Given the description of an element on the screen output the (x, y) to click on. 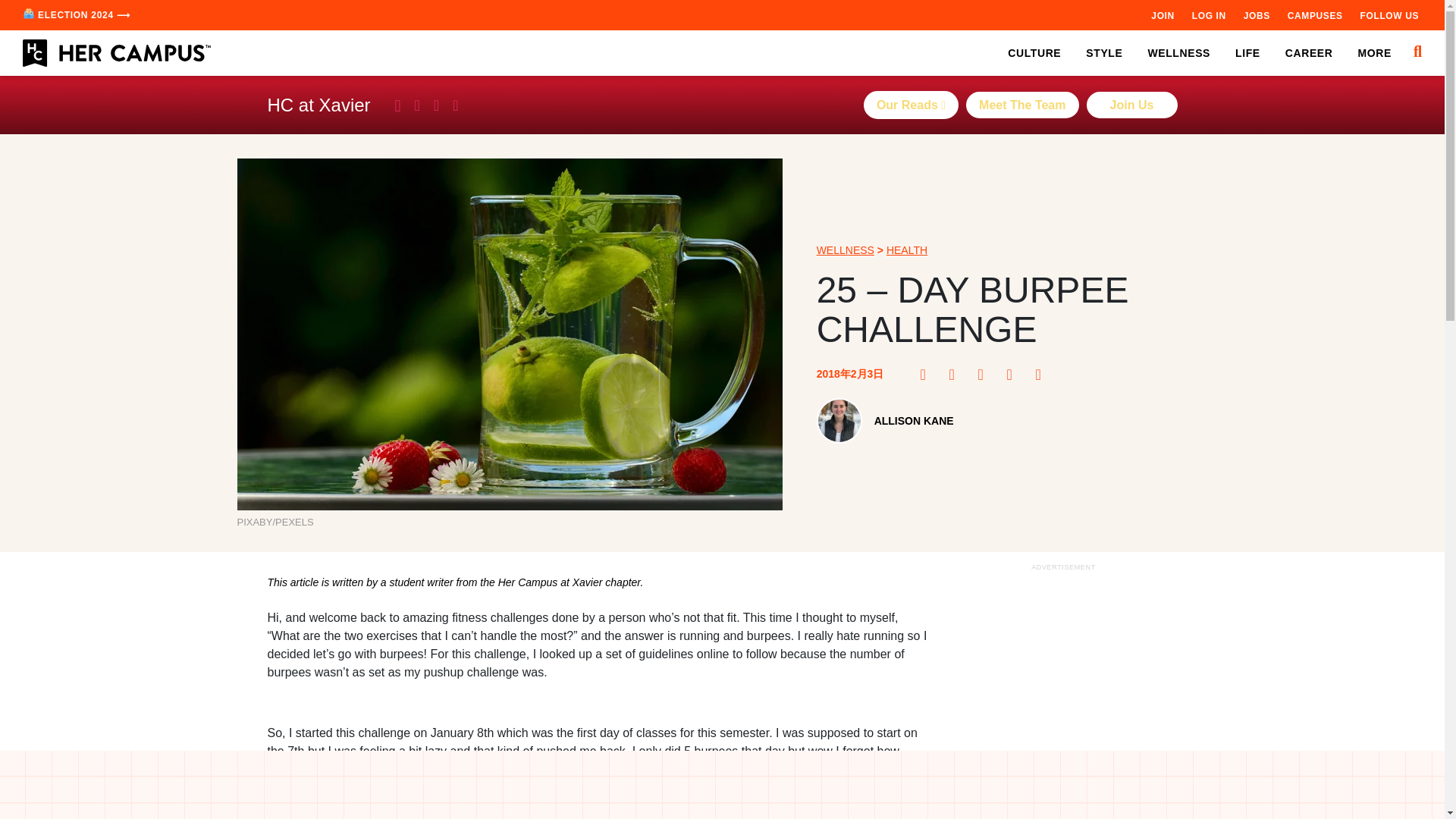
JOBS (1256, 15)
JOIN (1162, 15)
CAMPUSES (1314, 15)
Email (1042, 374)
Twitter (984, 374)
LinkedIn (1014, 374)
Pinterest (956, 374)
Facebook (927, 374)
LOG IN (1208, 15)
